Given the description of an element on the screen output the (x, y) to click on. 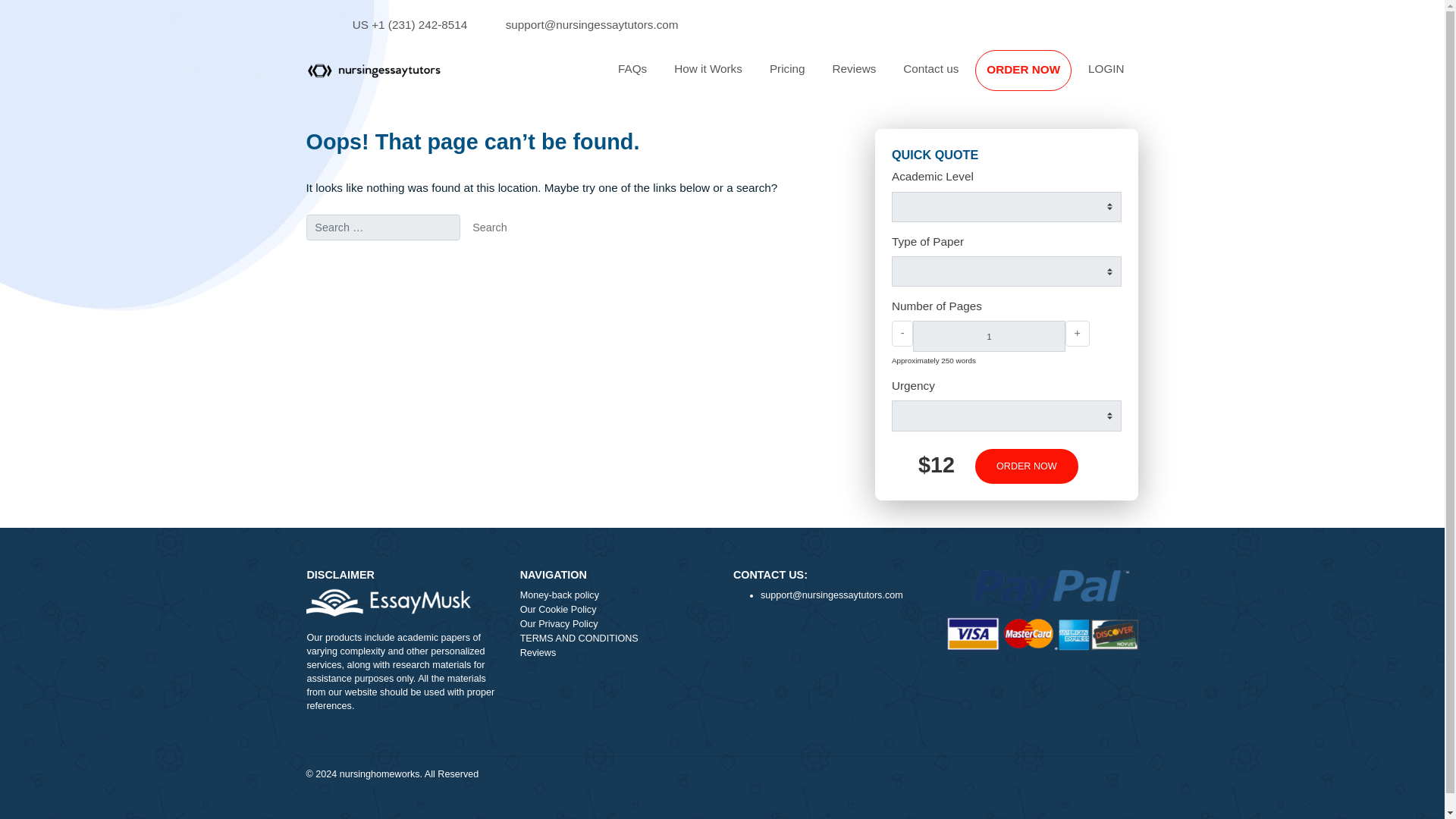
Pricing (875, 76)
Pricing (875, 76)
LOGIN (1229, 76)
How it Works (786, 76)
FAQs (702, 76)
ORDER NOW (1140, 517)
FAQs (702, 76)
Money-back policy (685, 662)
Search for: (425, 252)
Our Cookie Policy (685, 678)
